Given the description of an element on the screen output the (x, y) to click on. 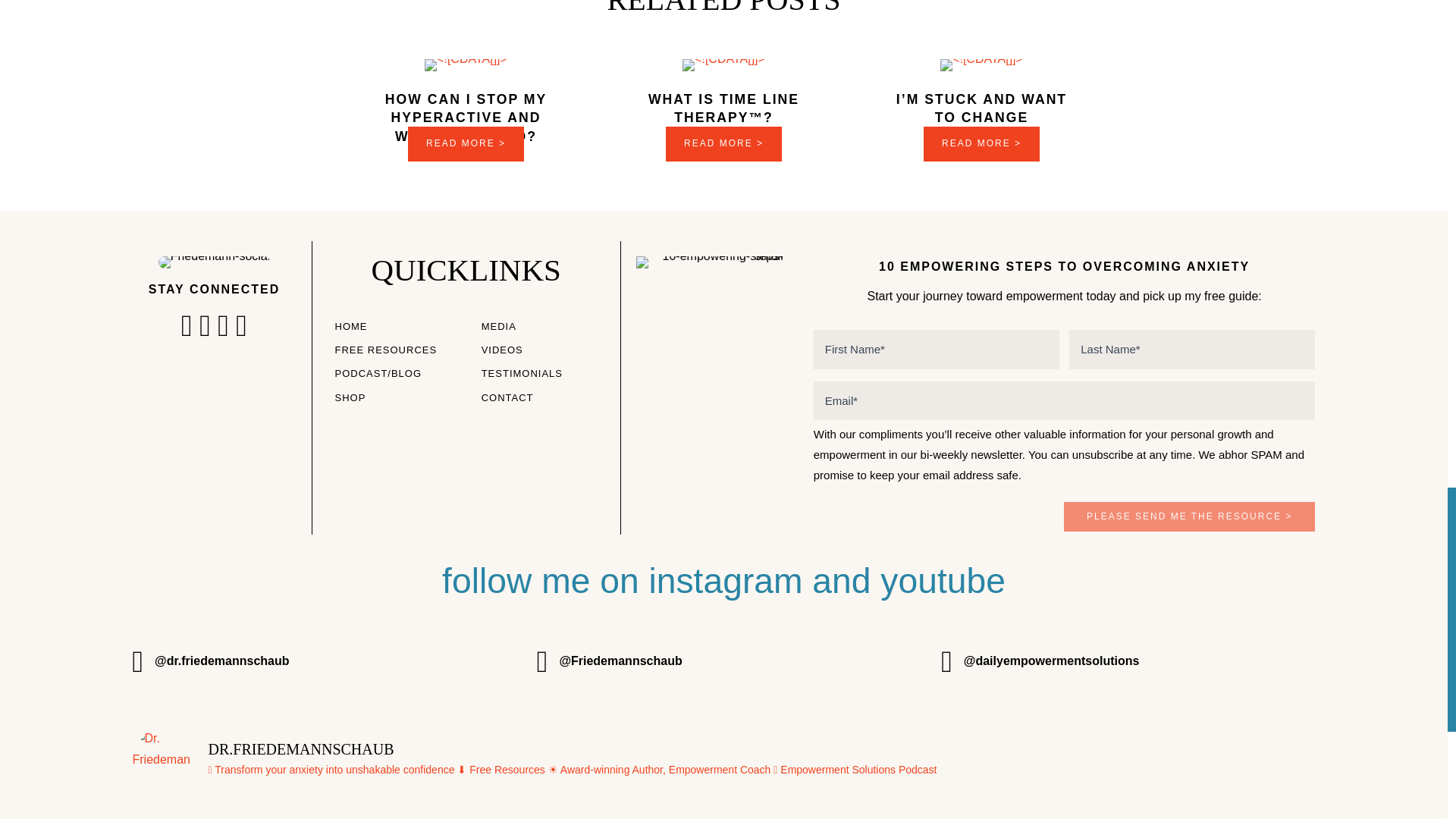
how-can-i-stop-my-hyperactive-and-worrying-mind1 (465, 64)
HOW CAN I STOP MY HYPERACTIVE AND WORRYING MIND? (466, 117)
How can I stop my hyperactive and worrying mind? (466, 117)
How can I stop my hyperactive and worrying mind? (465, 143)
what-is-time-line-therapy (723, 64)
